Given the description of an element on the screen output the (x, y) to click on. 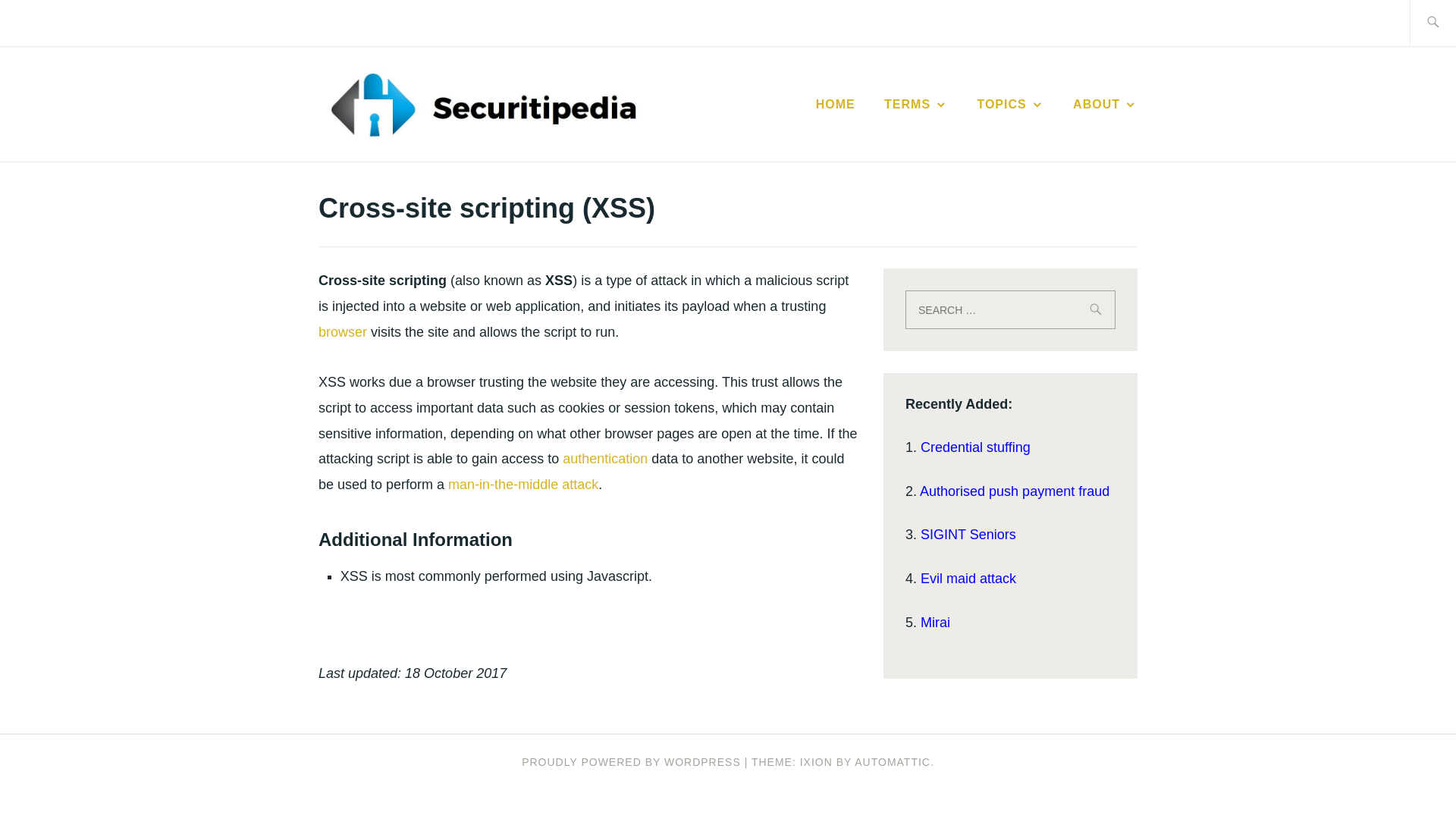
browser (342, 331)
Search for: (1010, 309)
authentication (604, 458)
TERMS (915, 104)
Search (47, 22)
SECURITIPEDIA (802, 127)
ABOUT (1105, 104)
HOME (835, 104)
TOPICS (1009, 104)
